Given the description of an element on the screen output the (x, y) to click on. 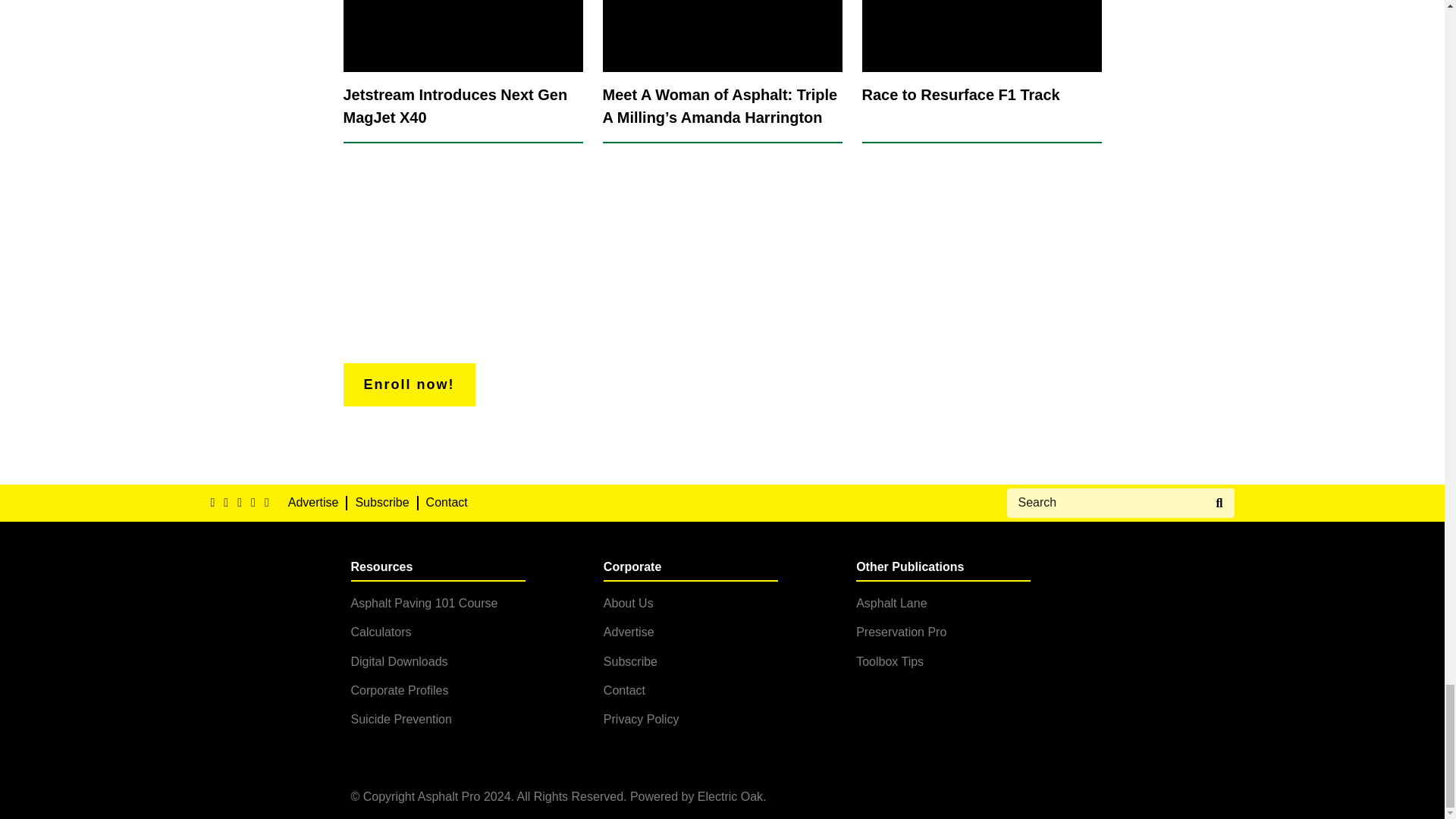
Enroll now! (408, 384)
Race to Resurface F1 Track (980, 71)
Jetstream Introduces Next Gen MagJet X40 (462, 71)
